Given the description of an element on the screen output the (x, y) to click on. 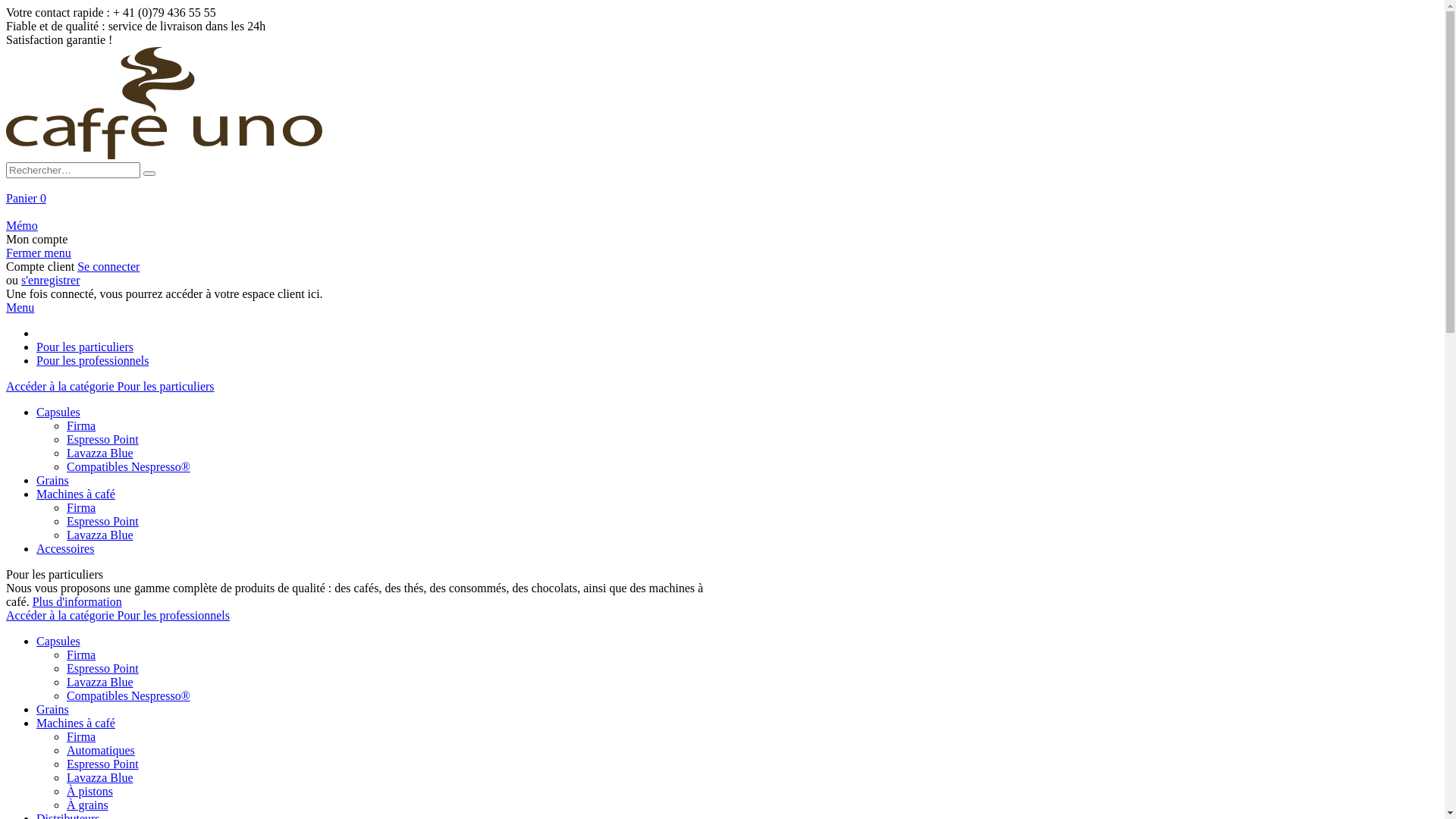
Espresso Point Element type: text (102, 762)
s'enregistrer Element type: text (50, 279)
Firma Element type: text (80, 424)
Panier 0 Element type: text (26, 197)
Capsules Element type: text (58, 410)
Firma Element type: text (80, 735)
Espresso Point Element type: text (102, 438)
Accessoires Element type: text (65, 547)
Grains Element type: text (52, 708)
Pour les professionnels Element type: text (92, 359)
Lavazza Blue Element type: text (99, 451)
Firma Element type: text (80, 653)
Lavazza Blue Element type: text (99, 776)
Pour les particuliers Element type: text (84, 345)
Menu Element type: text (20, 306)
Firma Element type: text (80, 506)
Se connecter Element type: text (108, 265)
Fermer menu Element type: text (38, 251)
Automatiques Element type: text (100, 749)
Grains Element type: text (52, 479)
Espresso Point Element type: text (102, 667)
Lavazza Blue Element type: text (99, 680)
Espresso Point Element type: text (102, 520)
Capsules Element type: text (58, 639)
Lavazza Blue Element type: text (99, 533)
Plus d'information Element type: text (77, 600)
